Given the description of an element on the screen output the (x, y) to click on. 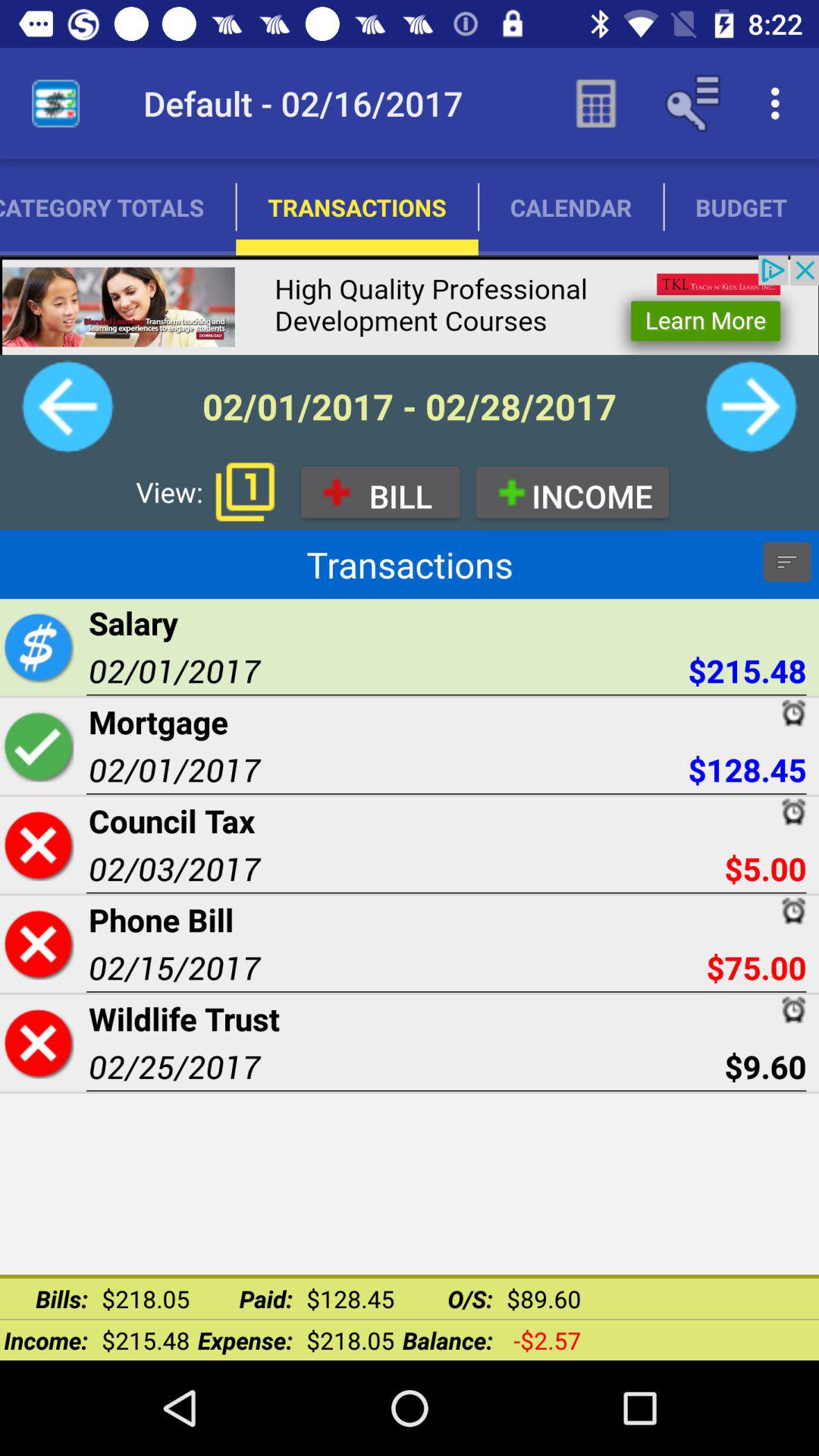
close page (37, 943)
